Given the description of an element on the screen output the (x, y) to click on. 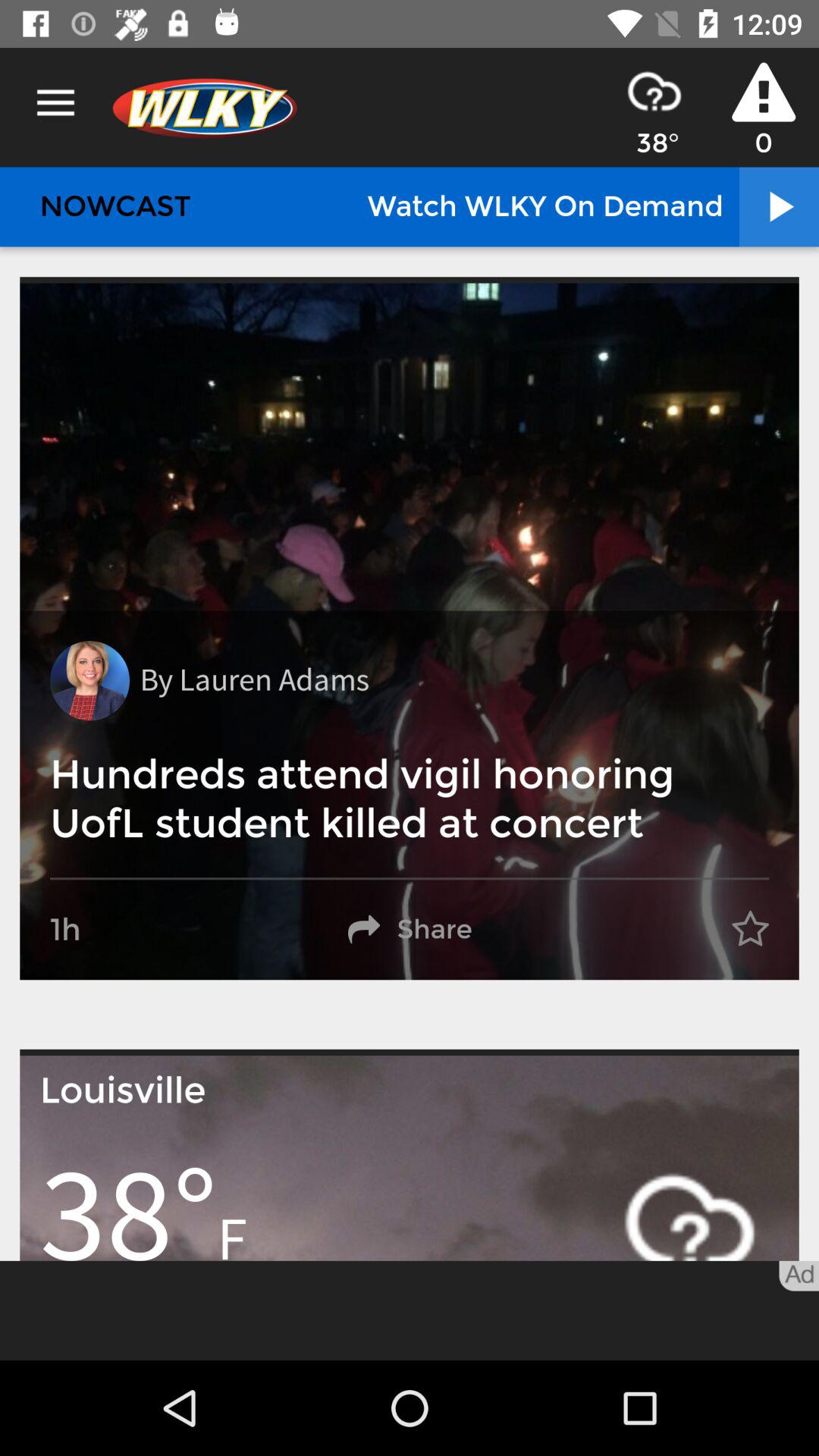
go to the image below nowcast (409, 631)
click on play icon above image (778, 206)
click on the image beside by lauren adams (89, 680)
select the text above hundreds attend text (254, 680)
click on the logo left top right on menu icon (206, 107)
